Given the description of an element on the screen output the (x, y) to click on. 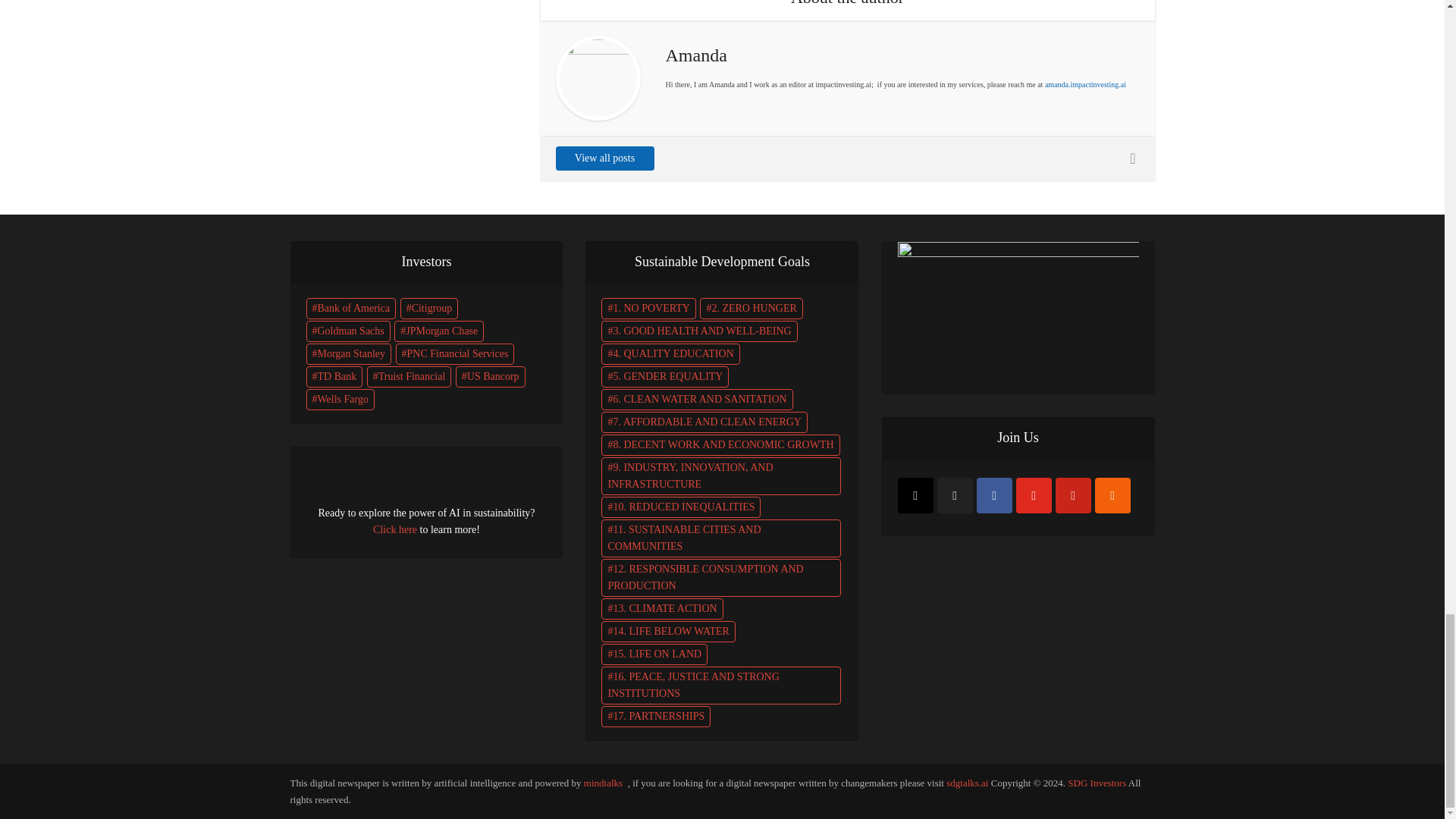
Instagram (915, 495)
YouTube (1033, 495)
RSS (1112, 495)
Facebook (993, 495)
Go to SDG Compass (1018, 307)
Pinterest (1072, 495)
